Given the description of an element on the screen output the (x, y) to click on. 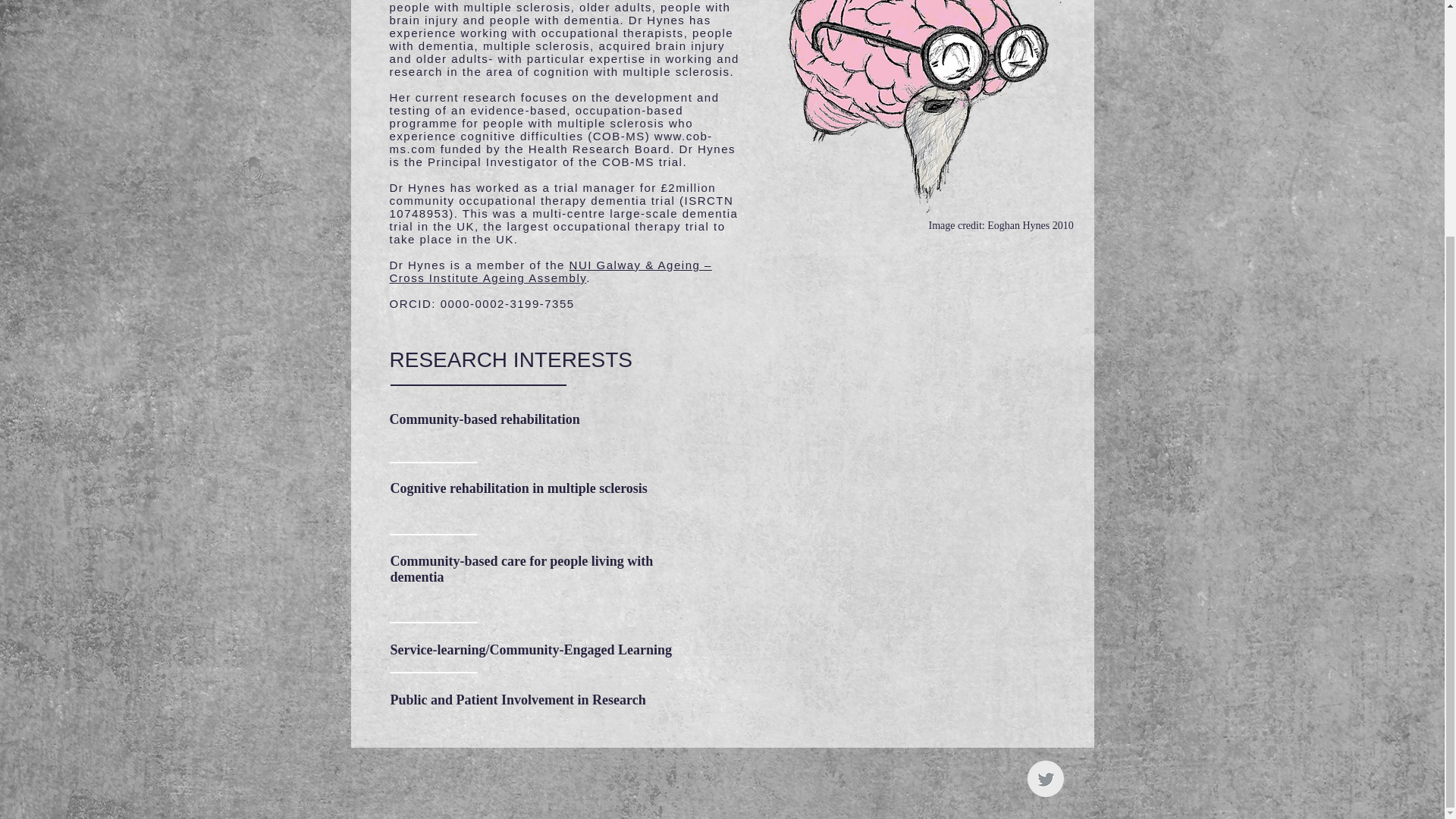
www.cob-ms.com (551, 142)
